Given the description of an element on the screen output the (x, y) to click on. 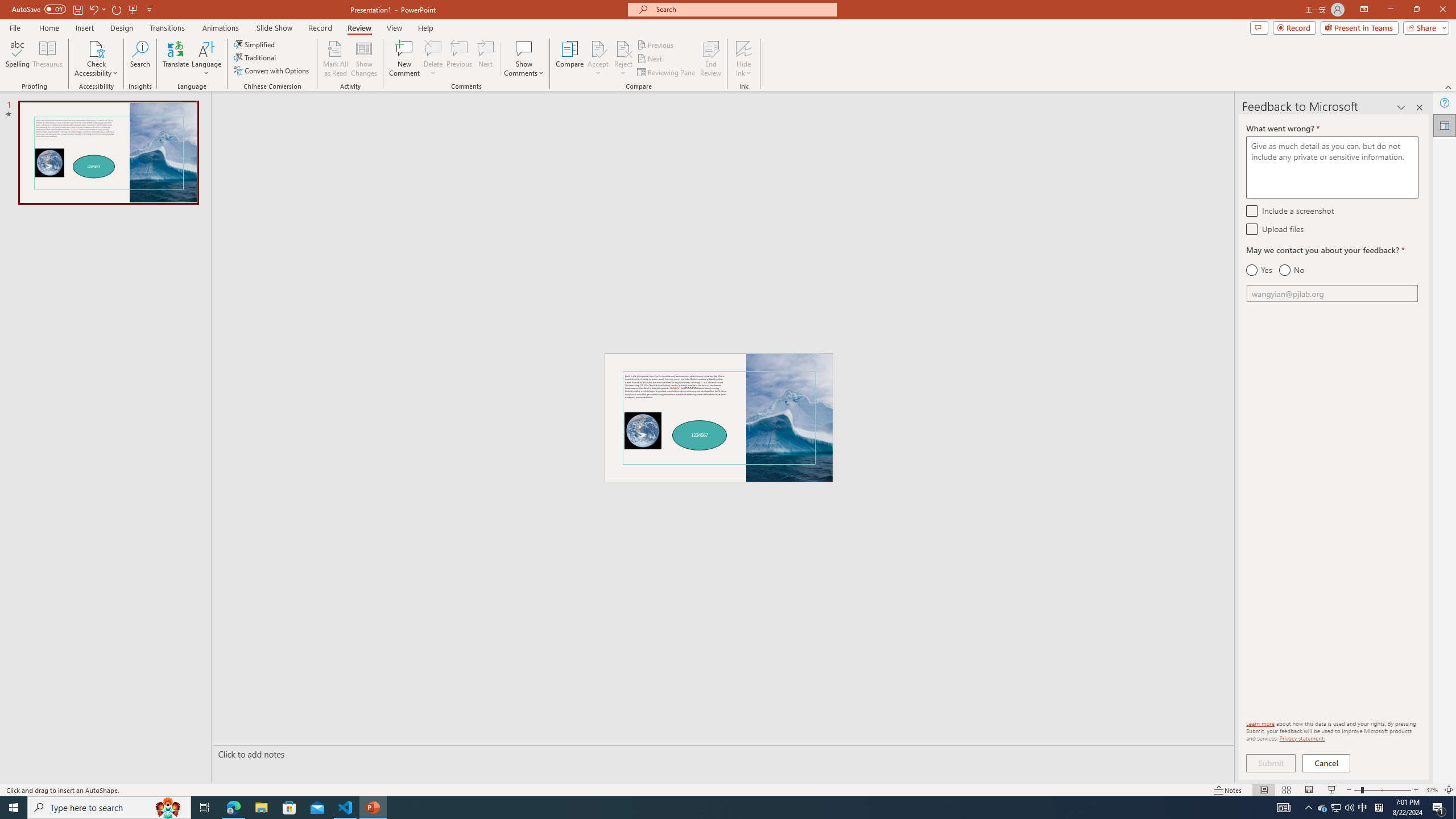
Next (649, 58)
Hide Ink (743, 48)
New Comment (403, 58)
Show Changes (363, 58)
End Review (710, 58)
Show Comments (524, 48)
Cancel (1327, 763)
Record (1294, 27)
Privacy statement. (1301, 738)
Accept Change (598, 48)
Redo (117, 9)
Previous (655, 44)
